Given the description of an element on the screen output the (x, y) to click on. 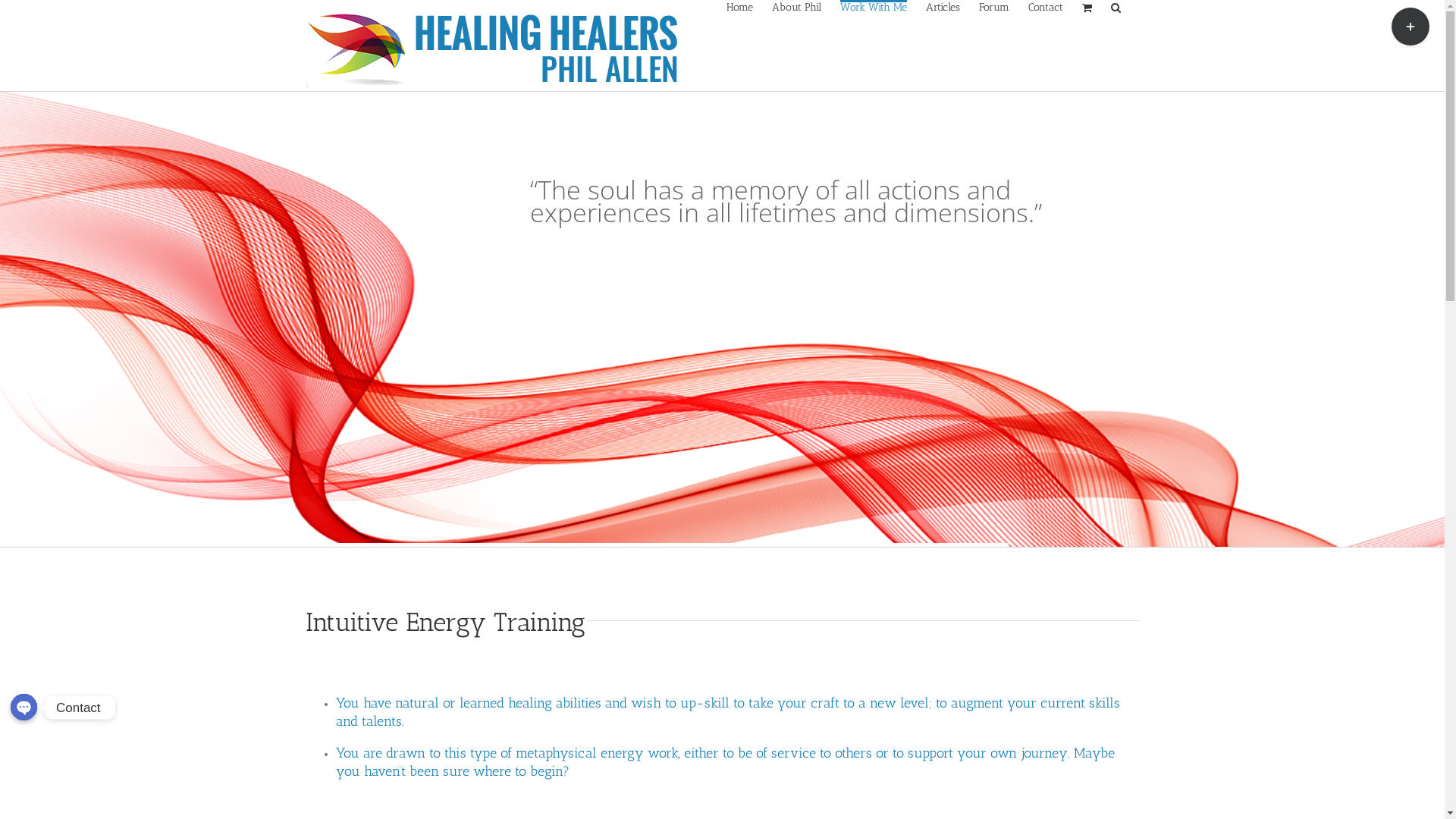
Articles Element type: text (942, 6)
Toggle Sliding Bar Area Element type: text (1410, 26)
Home Element type: text (739, 6)
Search Element type: hover (1115, 6)
Work With Me Element type: text (873, 6)
Forum Element type: text (993, 6)
About Phil Element type: text (796, 6)
Contact Element type: text (1045, 6)
